Given the description of an element on the screen output the (x, y) to click on. 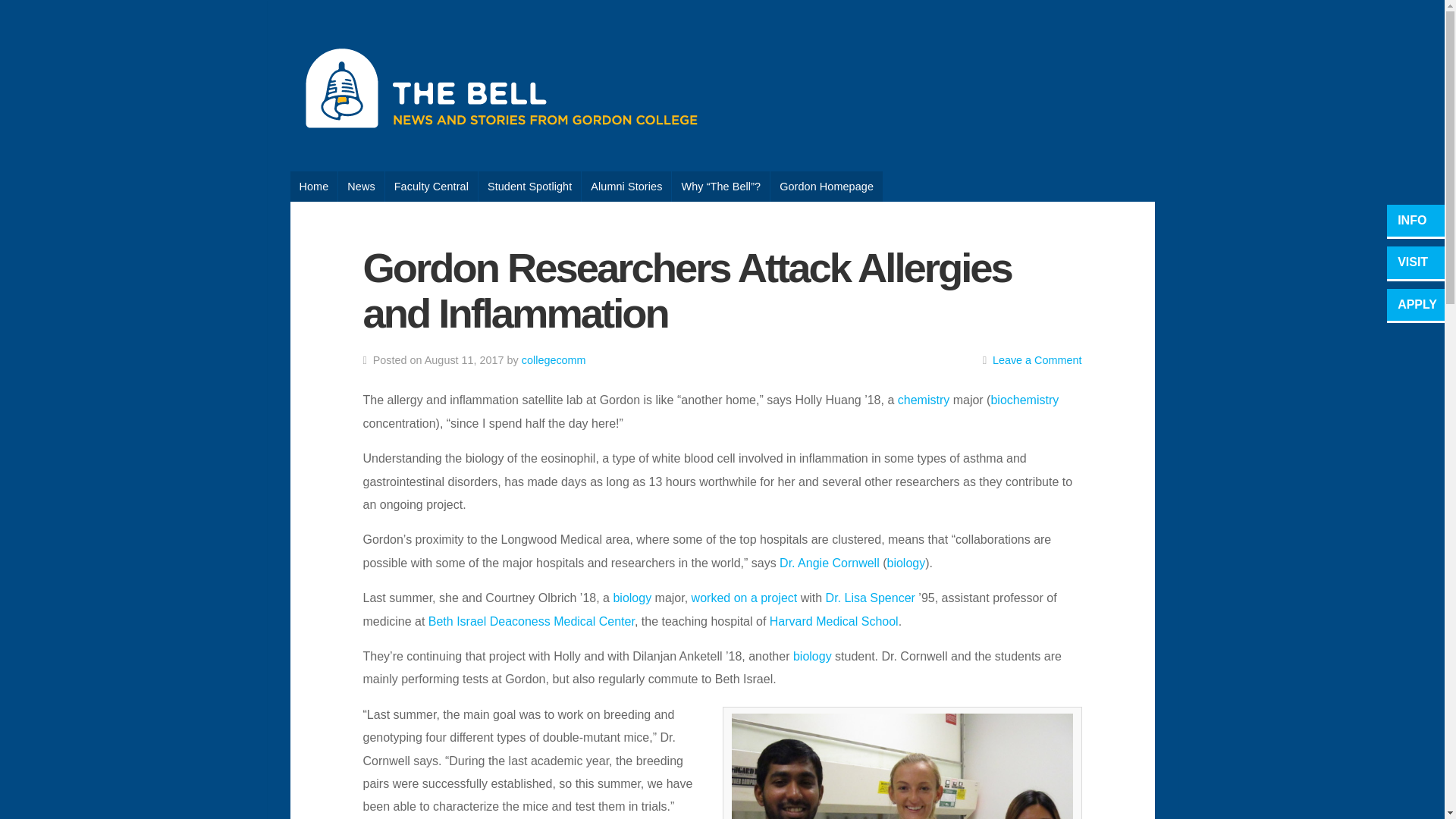
Harvard Medical School (834, 621)
biology (631, 597)
Dr. Angie Cornwell (828, 562)
biology (812, 656)
Dr. Lisa Spencer (870, 597)
chemistry (923, 399)
Leave a Comment (1036, 359)
News (360, 186)
biology (906, 562)
Gordon Homepage (826, 186)
